Given the description of an element on the screen output the (x, y) to click on. 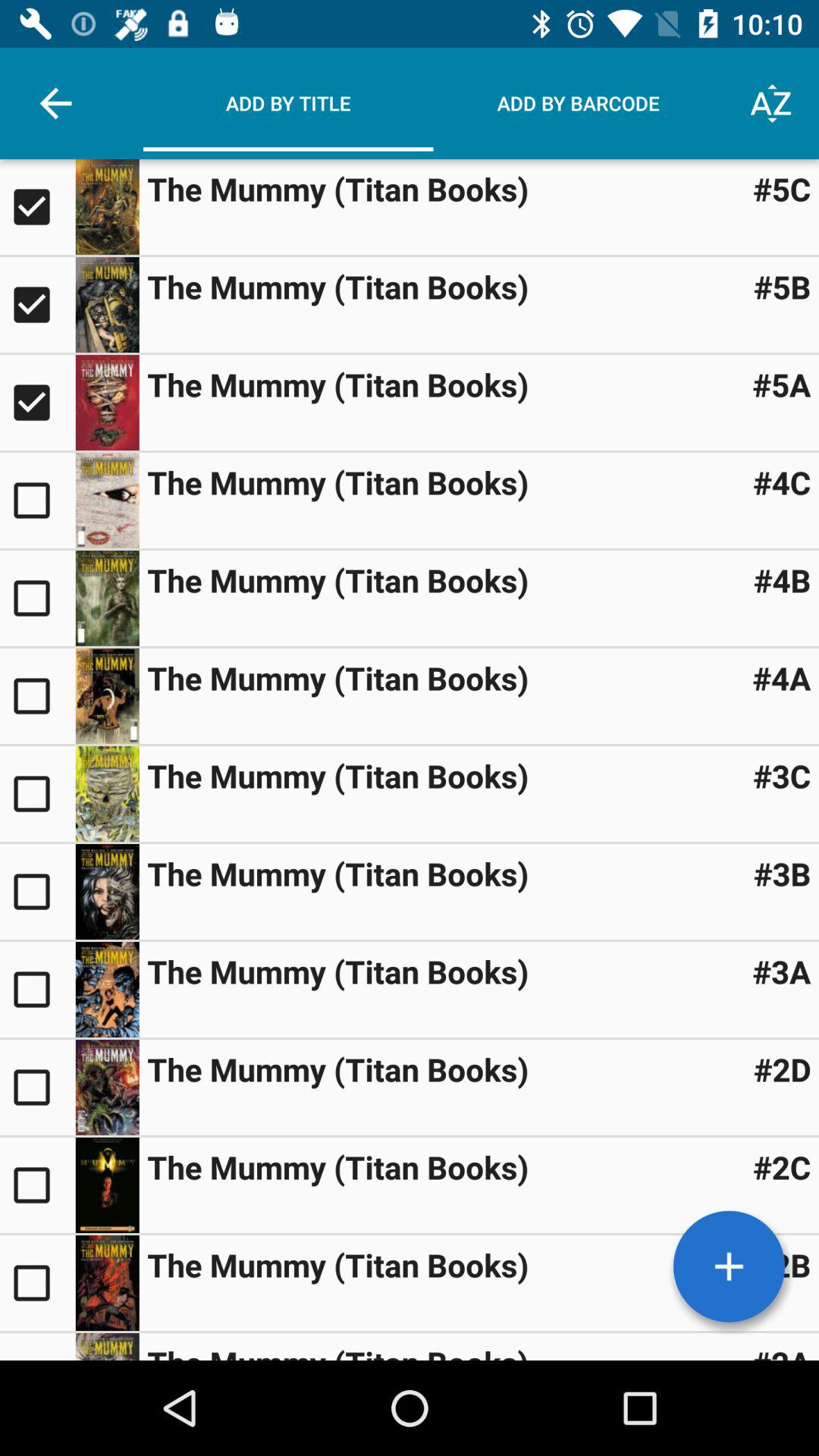
click #5b (782, 286)
